Given the description of an element on the screen output the (x, y) to click on. 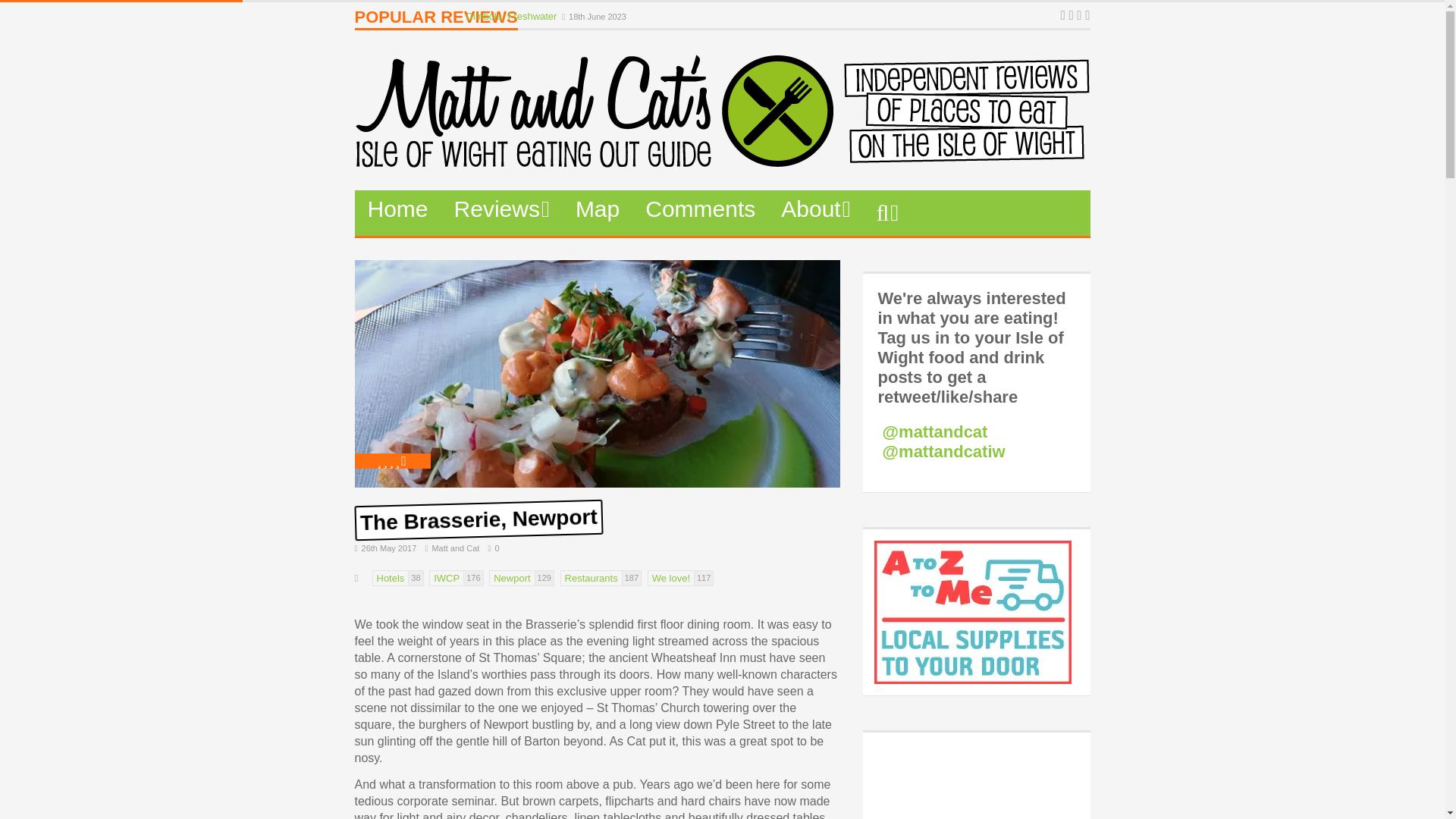
Home (398, 208)
Comments (699, 208)
Map (596, 208)
Dimbola, Freshwater (512, 16)
POPULAR REVIEWS (436, 20)
About (815, 208)
Reviews (501, 208)
